Given the description of an element on the screen output the (x, y) to click on. 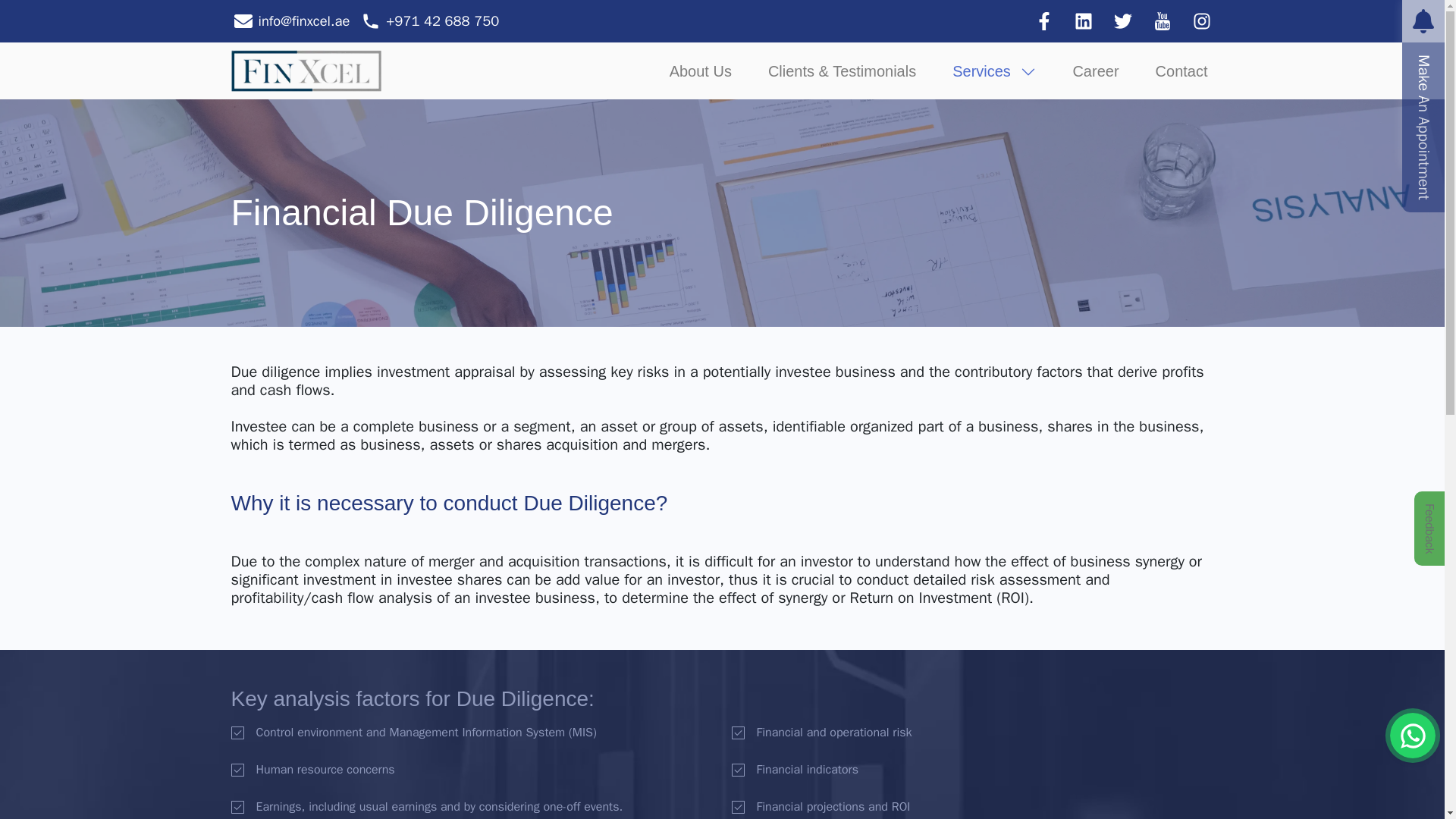
Career (1094, 69)
Contact (1182, 69)
About Us (700, 69)
Services (994, 69)
